Given the description of an element on the screen output the (x, y) to click on. 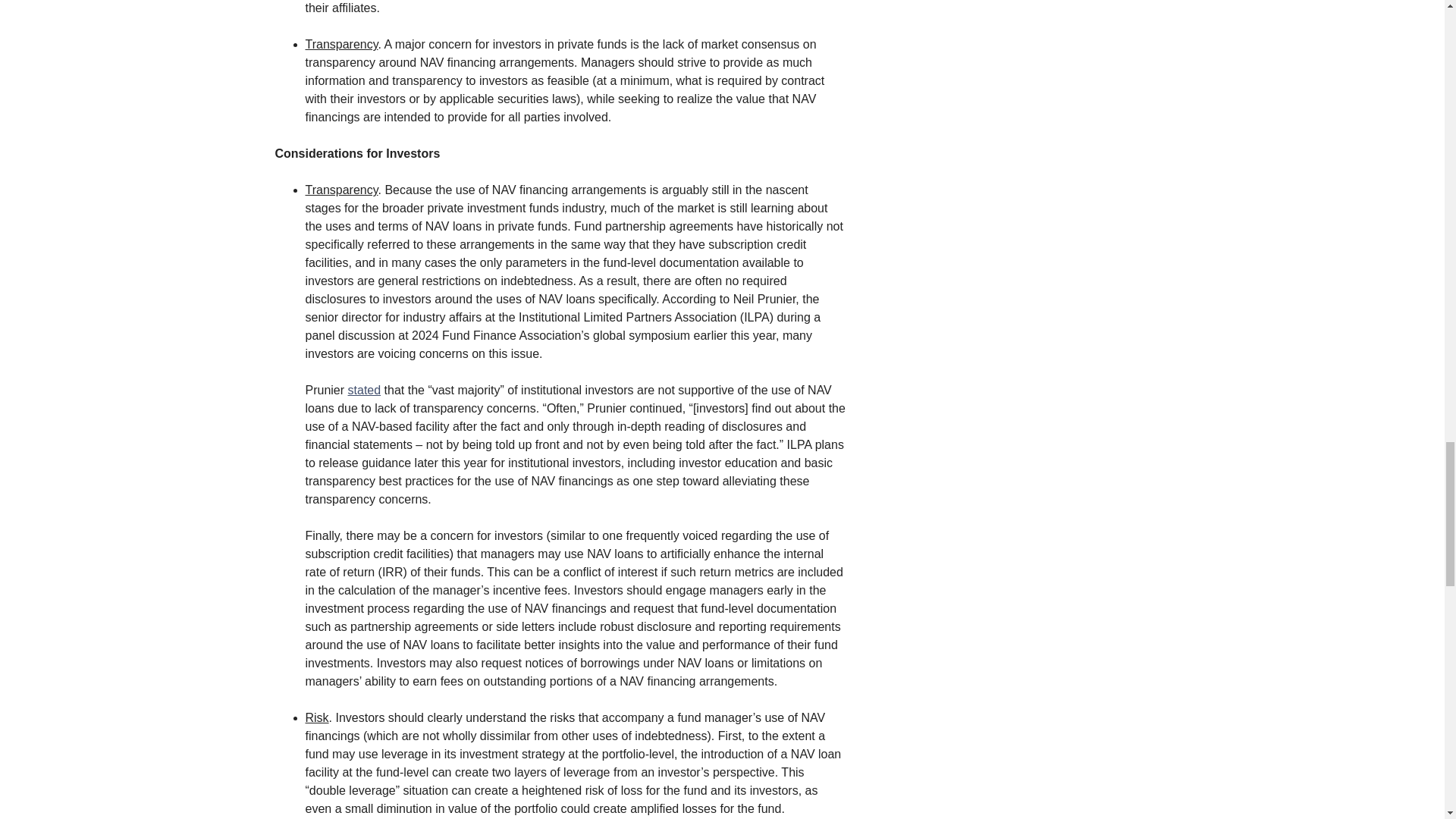
stated (364, 390)
